Given the description of an element on the screen output the (x, y) to click on. 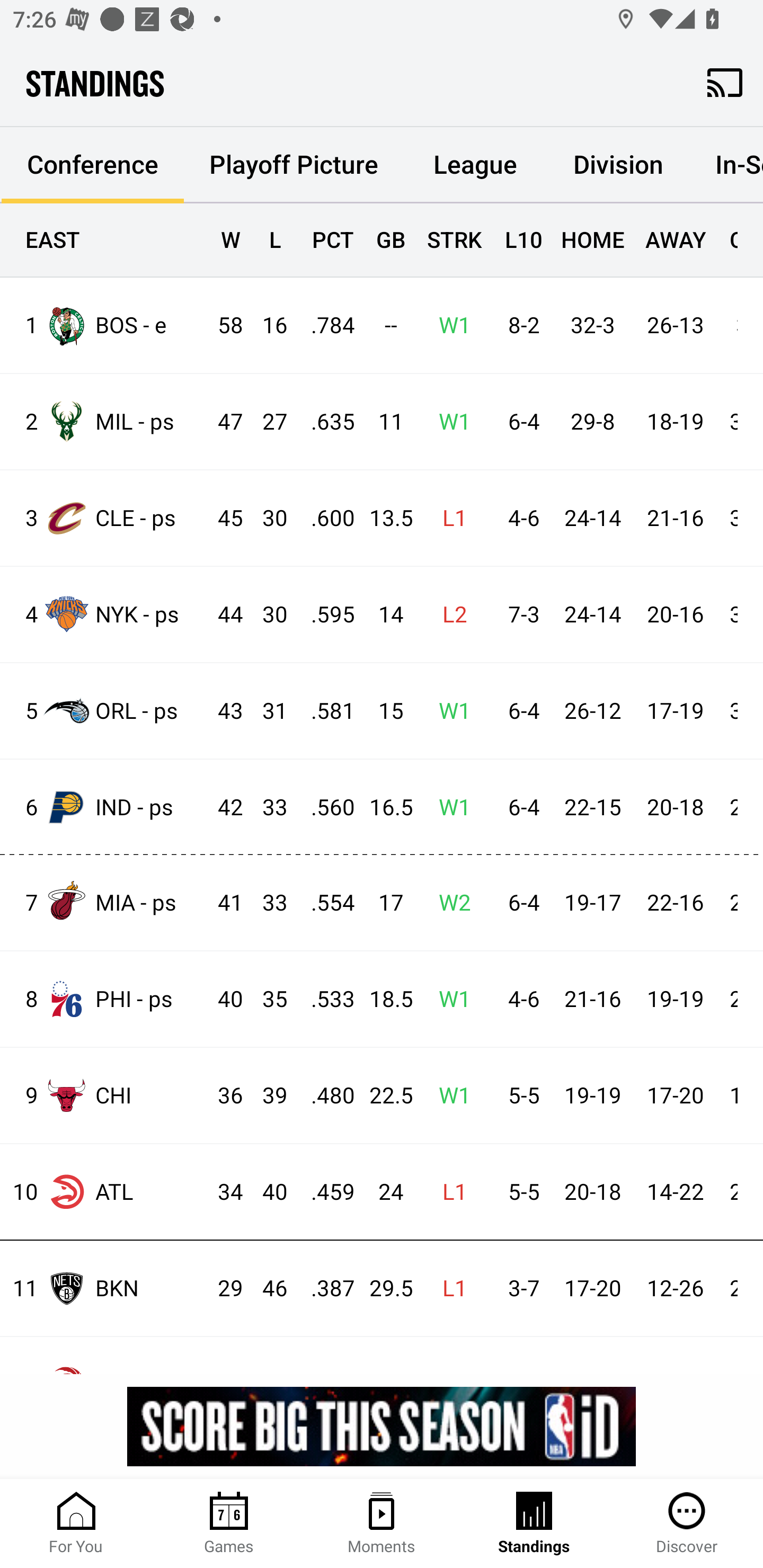
Cast. Disconnected (724, 82)
Playoff Picture (293, 165)
League (475, 165)
Division (618, 165)
1 BOS - e (104, 325)
16 (265, 324)
.784 (323, 324)
-- (382, 324)
W1 (449, 324)
8-2 (518, 324)
32-3 (592, 324)
26-13 (675, 324)
2 MIL - ps (104, 421)
27 (265, 422)
.635 (323, 422)
11 (382, 422)
W1 (449, 422)
6-4 (518, 422)
29-8 (592, 422)
18-19 (675, 422)
3 CLE - ps (104, 518)
30 (265, 517)
.600 (323, 517)
13.5 (382, 517)
L1 (449, 517)
4-6 (518, 517)
24-14 (592, 517)
21-16 (675, 517)
4 NYK - ps (104, 613)
30 (265, 615)
.595 (323, 615)
14 (382, 615)
L2 (449, 615)
7-3 (518, 615)
24-14 (592, 615)
20-16 (675, 615)
5 ORL - ps (104, 710)
31 (265, 710)
.581 (323, 710)
15 (382, 710)
W1 (449, 710)
6-4 (518, 710)
26-12 (592, 710)
17-19 (675, 710)
6 IND - ps (104, 806)
33 (265, 807)
.560 (323, 807)
16.5 (382, 807)
W1 (449, 807)
6-4 (518, 807)
22-15 (592, 807)
20-18 (675, 807)
7 MIA - ps (104, 902)
33 (265, 902)
.554 (323, 902)
17 (382, 902)
W2 (449, 902)
6-4 (518, 902)
19-17 (592, 902)
22-16 (675, 902)
8 PHI - ps (104, 999)
35 (265, 999)
.533 (323, 999)
18.5 (382, 999)
W1 (449, 999)
4-6 (518, 999)
21-16 (592, 999)
19-19 (675, 999)
9 CHI (104, 1095)
39 (265, 1095)
.480 (323, 1095)
22.5 (382, 1095)
W1 (449, 1095)
5-5 (518, 1095)
19-19 (592, 1095)
17-20 (675, 1095)
10 ATL (104, 1192)
40 (265, 1192)
.459 (323, 1192)
24 (382, 1192)
L1 (449, 1192)
5-5 (518, 1192)
20-18 (592, 1192)
14-22 (675, 1192)
11 BKN (104, 1287)
46 (265, 1288)
.387 (323, 1288)
29.5 (382, 1288)
L1 (449, 1288)
3-7 (518, 1288)
17-20 (592, 1288)
12-26 (675, 1288)
g5nqqygr7owph (381, 1426)
For You (76, 1523)
Games (228, 1523)
Moments (381, 1523)
Discover (686, 1523)
